Given the description of an element on the screen output the (x, y) to click on. 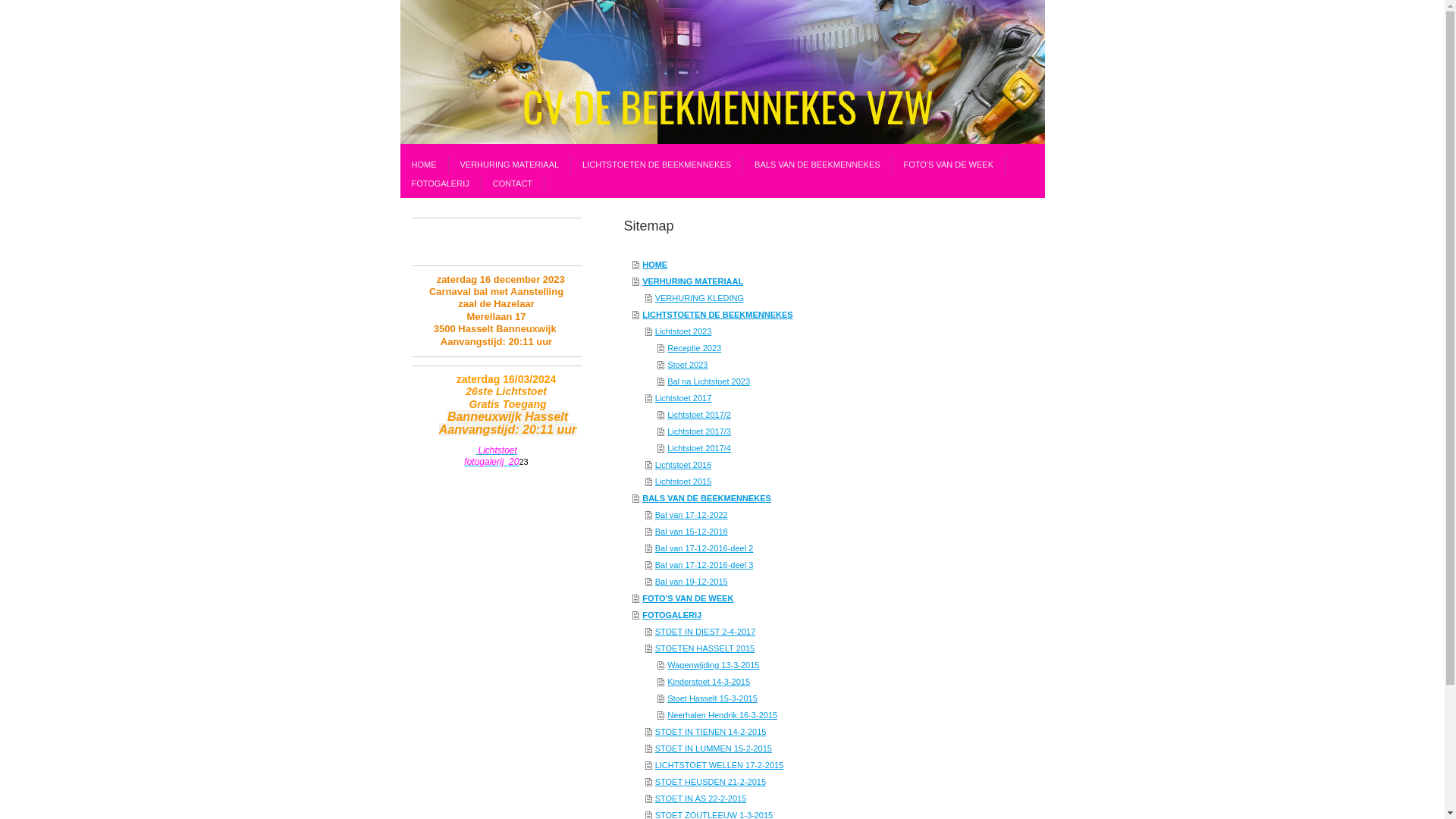
LICHTSTOETEN DE BEEKMENNEKES Element type: text (811, 314)
Bal van 17-12-2022 Element type: text (817, 514)
Bal na Lichtstoet 2023 Element type: text (824, 381)
Stoet Hasselt 15-3-2015 Element type: text (824, 698)
HOME Element type: text (811, 264)
Lichtstoet 2017 Element type: text (817, 397)
HOME Element type: text (424, 164)
Neerhalen Hendrik 16-3-2015 Element type: text (824, 714)
FOTO'S VAN DE WEEK Element type: text (948, 164)
BALS VAN DE BEEKMENNEKES Element type: text (817, 164)
Bal van 17-12-2016-deel 3 Element type: text (817, 564)
 Lichtstoet Element type: text (496, 450)
Lichtstoet 2017/4 Element type: text (824, 447)
VERHURING KLEDING Element type: text (817, 297)
STOET IN DIEST 2-4-2017 Element type: text (817, 631)
STOETEN HASSELT 2015 Element type: text (817, 648)
CV DE BEEKMENNEKES VZW Element type: text (722, 72)
STOET IN TIENEN 14-2-2015 Element type: text (817, 731)
Lichtstoet 2017/3 Element type: text (824, 431)
Wagenwijding 13-3-2015 Element type: text (824, 664)
BALS VAN DE BEEKMENNEKES Element type: text (811, 497)
Bal van 15-12-2018 Element type: text (817, 531)
VERHURING MATERIAAL Element type: text (811, 281)
STOET HEUSDEN 21-2-2015 Element type: text (817, 781)
FOTO'S VAN DE WEEK Element type: text (811, 597)
Kinderstoet 14-3-2015 Element type: text (824, 681)
LICHTSTOET WELLEN 17-2-2015 Element type: text (817, 764)
FOTOGALERIJ Element type: text (440, 183)
STOET IN LUMMEN 15-2-2015 Element type: text (817, 748)
Lichtstoet 2023 Element type: text (817, 331)
VERHURING MATERIAAL Element type: text (509, 164)
STOET IN AS 22-2-2015 Element type: text (817, 798)
CONTACT Element type: text (512, 183)
Bal van 19-12-2015 Element type: text (817, 581)
FOTOGALERIJ Element type: text (811, 614)
Receptie 2023 Element type: text (824, 347)
Lichtstoet 2016 Element type: text (817, 464)
LICHTSTOETEN DE BEEKMENNEKES Element type: text (657, 164)
Bal van 17-12-2016-deel 2 Element type: text (817, 547)
Stoet 2023 Element type: text (824, 364)
Lichtstoet 2017/2 Element type: text (824, 414)
Lichtstoet 2015 Element type: text (817, 481)
fotogalerij  20 Element type: text (491, 461)
